Given the description of an element on the screen output the (x, y) to click on. 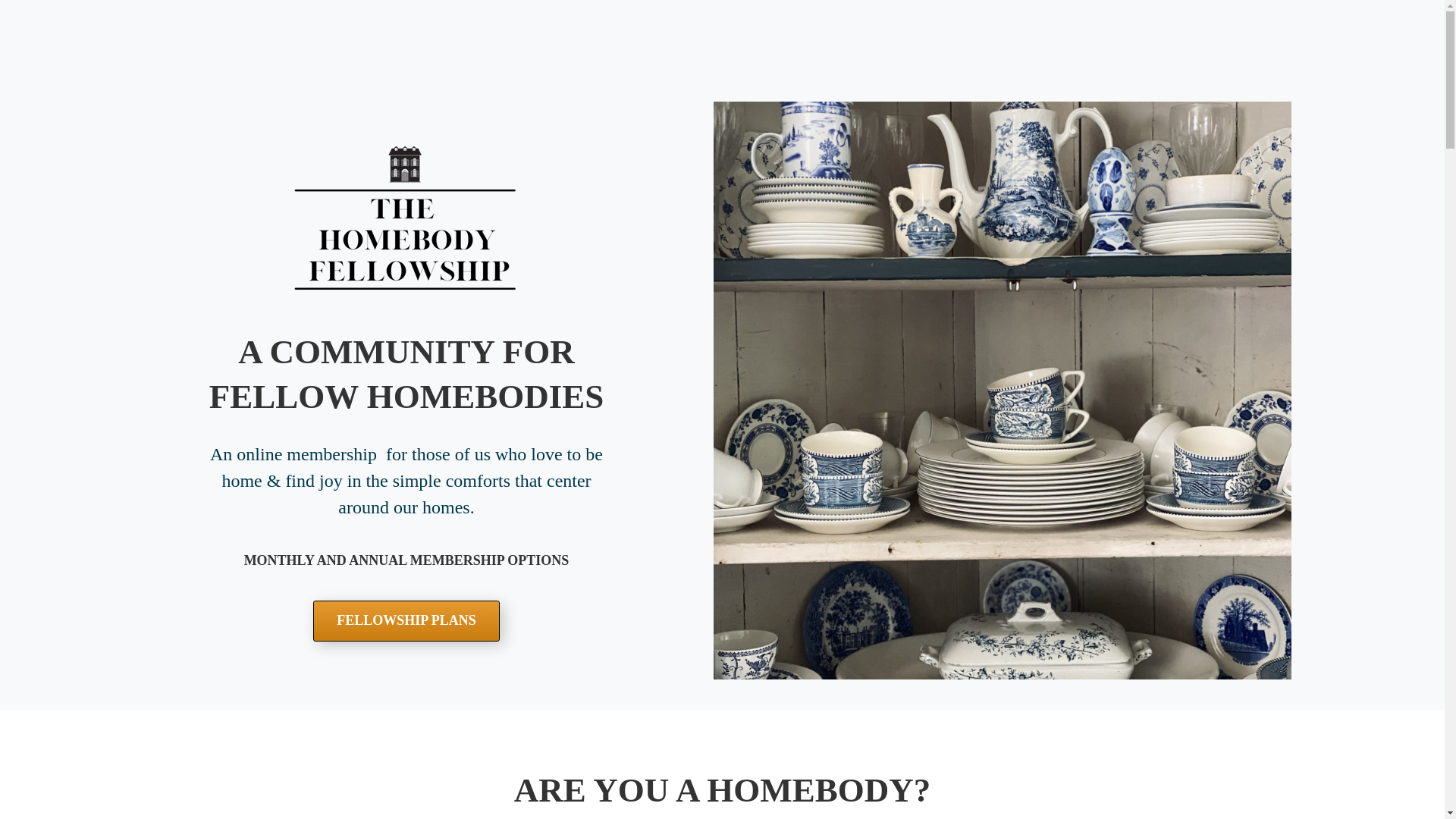
Homebody Logo 50 (406, 219)
FELLOWSHIP PLANS (406, 620)
